Given the description of an element on the screen output the (x, y) to click on. 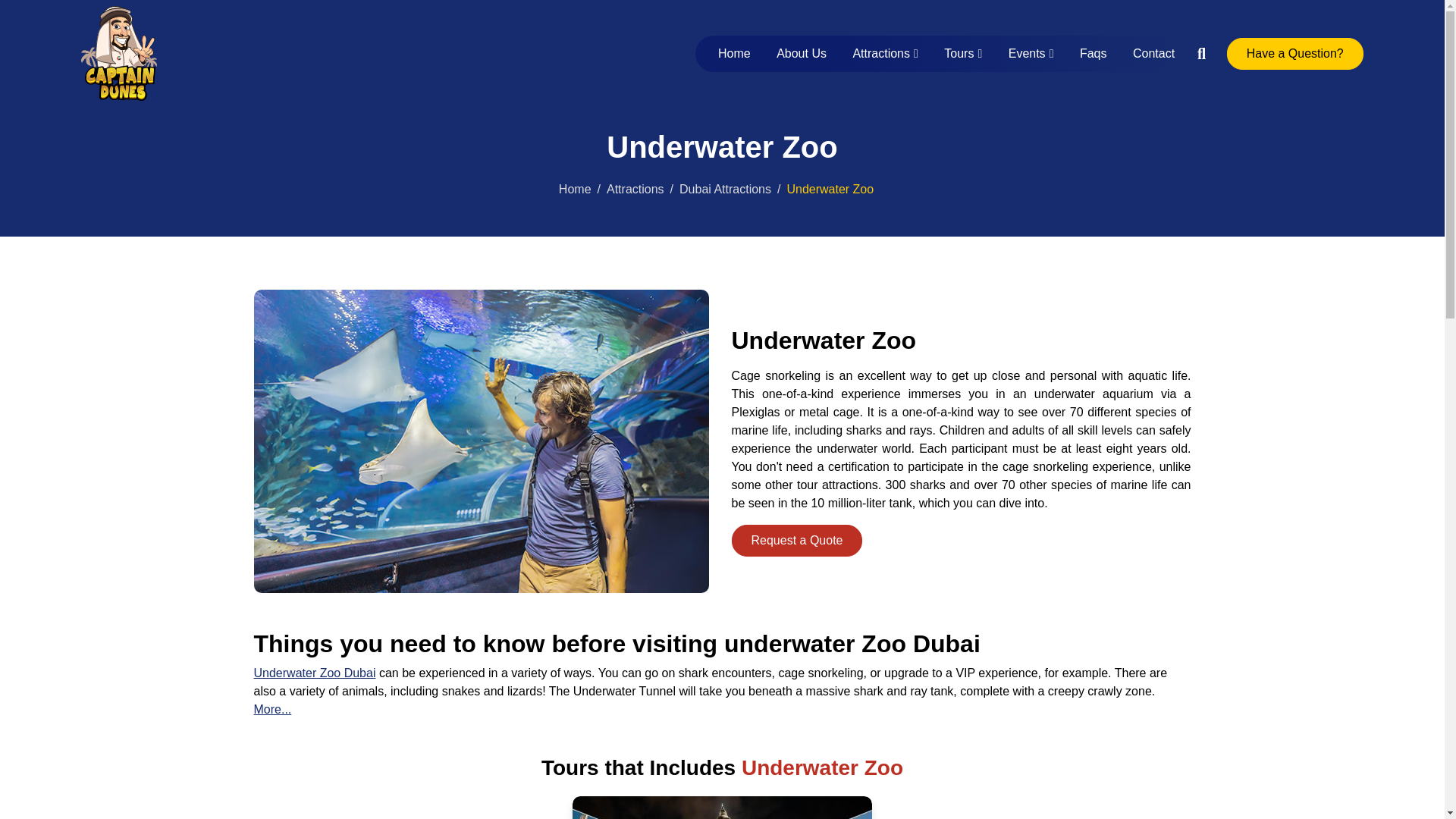
Home (575, 188)
Contact (1147, 53)
Request a Quote (795, 540)
Events (1031, 53)
Go to Attractions. (635, 188)
About Us (801, 53)
Faqs (1093, 53)
Tours (962, 53)
Dubai Attractions (725, 188)
More... (272, 708)
